Given the description of an element on the screen output the (x, y) to click on. 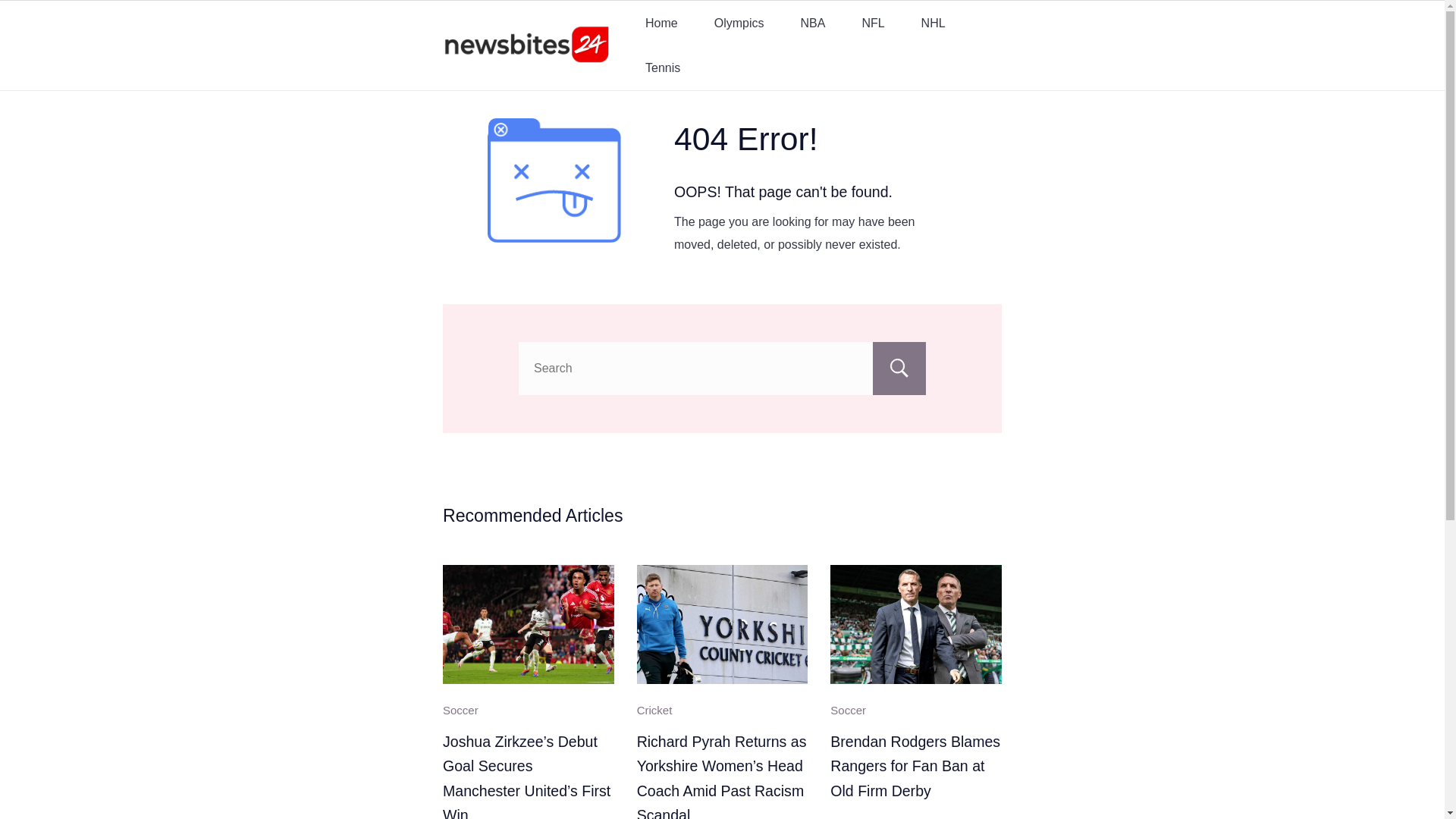
Soccer (460, 709)
Search (899, 368)
NBA (812, 22)
Olympics (739, 22)
Search (899, 368)
Cricket (654, 709)
NewsBites24 (504, 74)
Search (899, 368)
Brendan Rodgers Blames Rangers for Fan Ban at Old Firm Derby (914, 766)
NHL (932, 22)
